Given the description of an element on the screen output the (x, y) to click on. 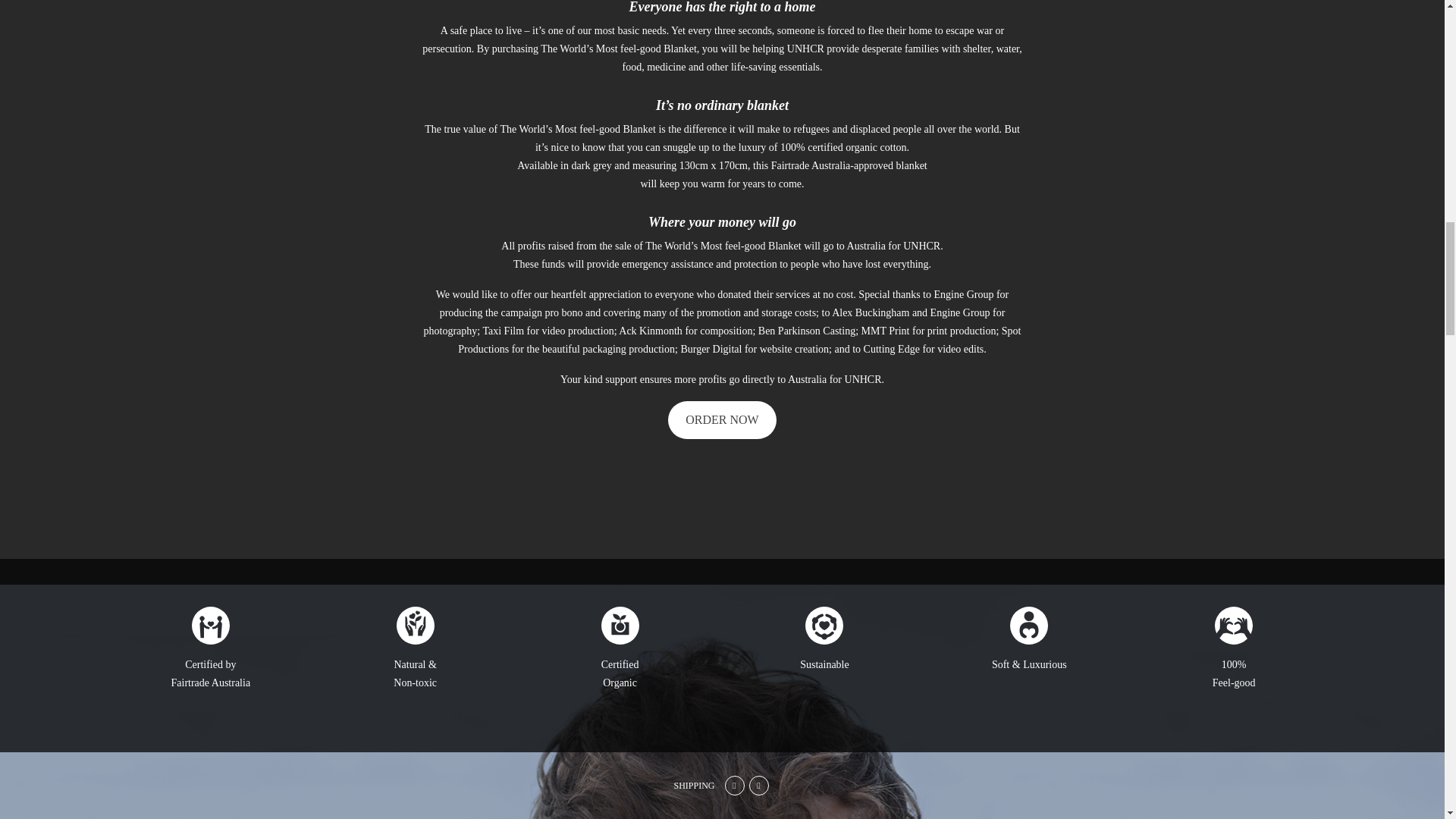
Cutting Edge (891, 348)
Engine Group (964, 294)
Taxi Film (502, 330)
ORDER NOW (722, 419)
Engine Group (960, 312)
Alex Buckingham (869, 312)
Burger Digital (711, 348)
MMT Print (885, 330)
SHIPPING (693, 785)
Spot Productions (739, 339)
